Given the description of an element on the screen output the (x, y) to click on. 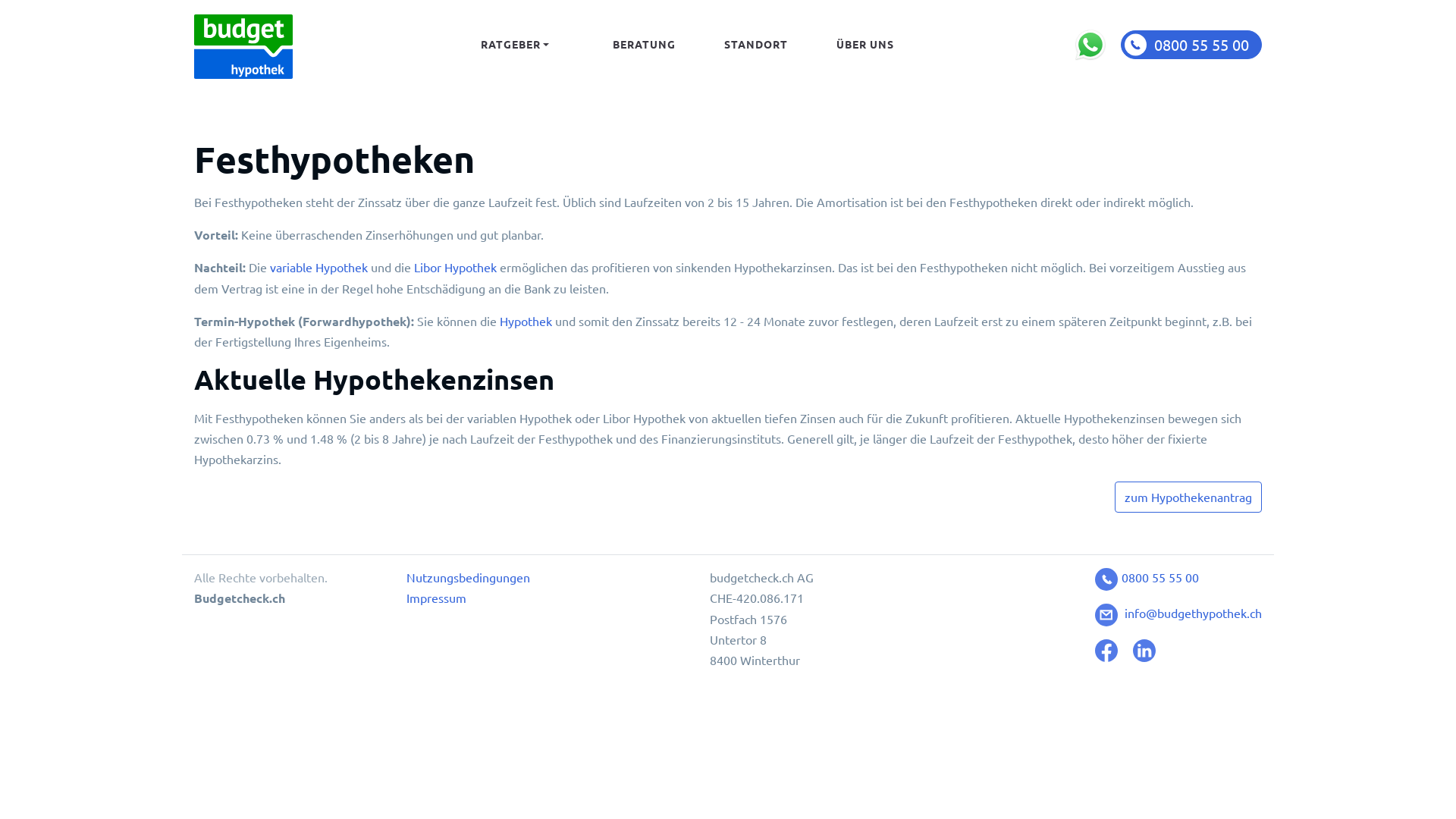
BERATUNG Element type: text (643, 44)
Libor Hypothek Element type: text (455, 266)
variable Hypothek Element type: text (318, 266)
0800 55 55 00 Element type: text (1146, 576)
0800 55 55 00 Element type: text (1190, 44)
Nutzungsbedingungen Element type: text (468, 576)
RATGEBER Element type: text (514, 44)
STANDORT Element type: text (755, 44)
info@budgethypothek.ch Element type: text (1178, 612)
Hypothek Element type: text (525, 320)
Impressum Element type: text (436, 597)
zum Hypothekenantrag Element type: text (1187, 496)
